Given the description of an element on the screen output the (x, y) to click on. 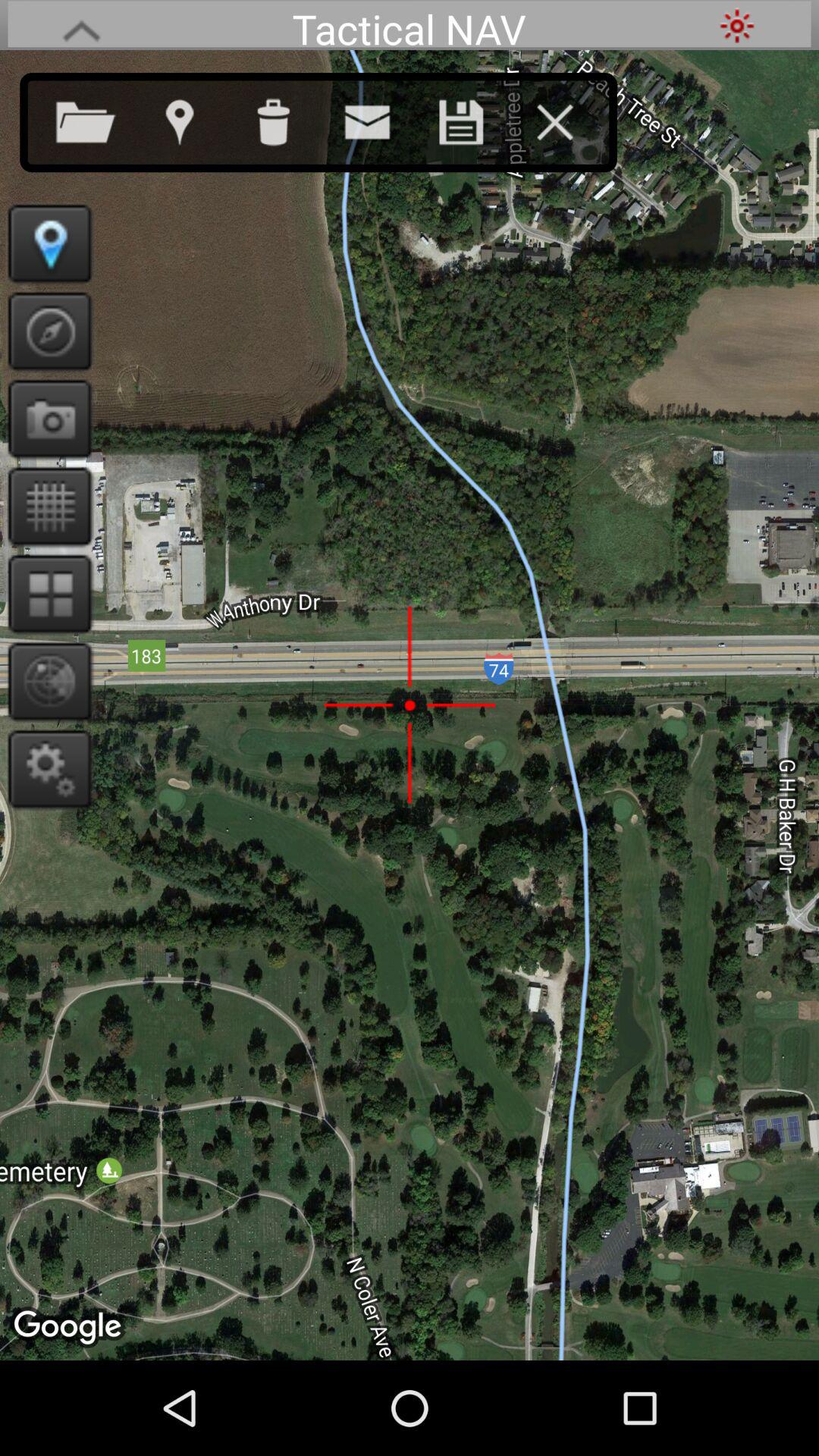
click the app to the right of tactical nav item (737, 25)
